Given the description of an element on the screen output the (x, y) to click on. 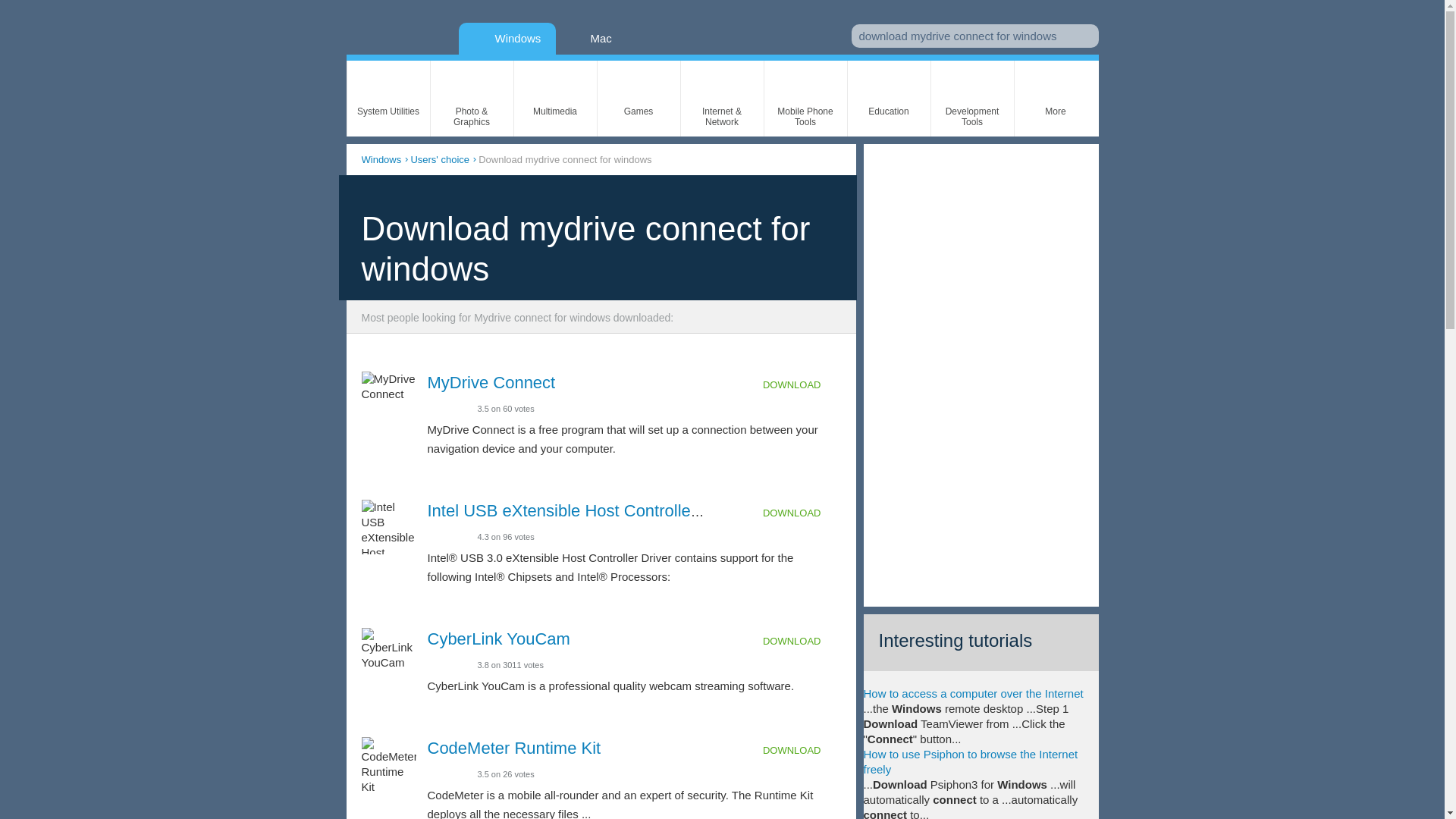
Multimedia (554, 98)
Mobile Phone Tools (805, 98)
Mac (593, 38)
CodeMeter Runtime Kit (514, 747)
MyDrive Connect (492, 382)
DOWNLOAD (801, 750)
Education (888, 98)
Development Tools (972, 98)
Games (637, 98)
